Given the description of an element on the screen output the (x, y) to click on. 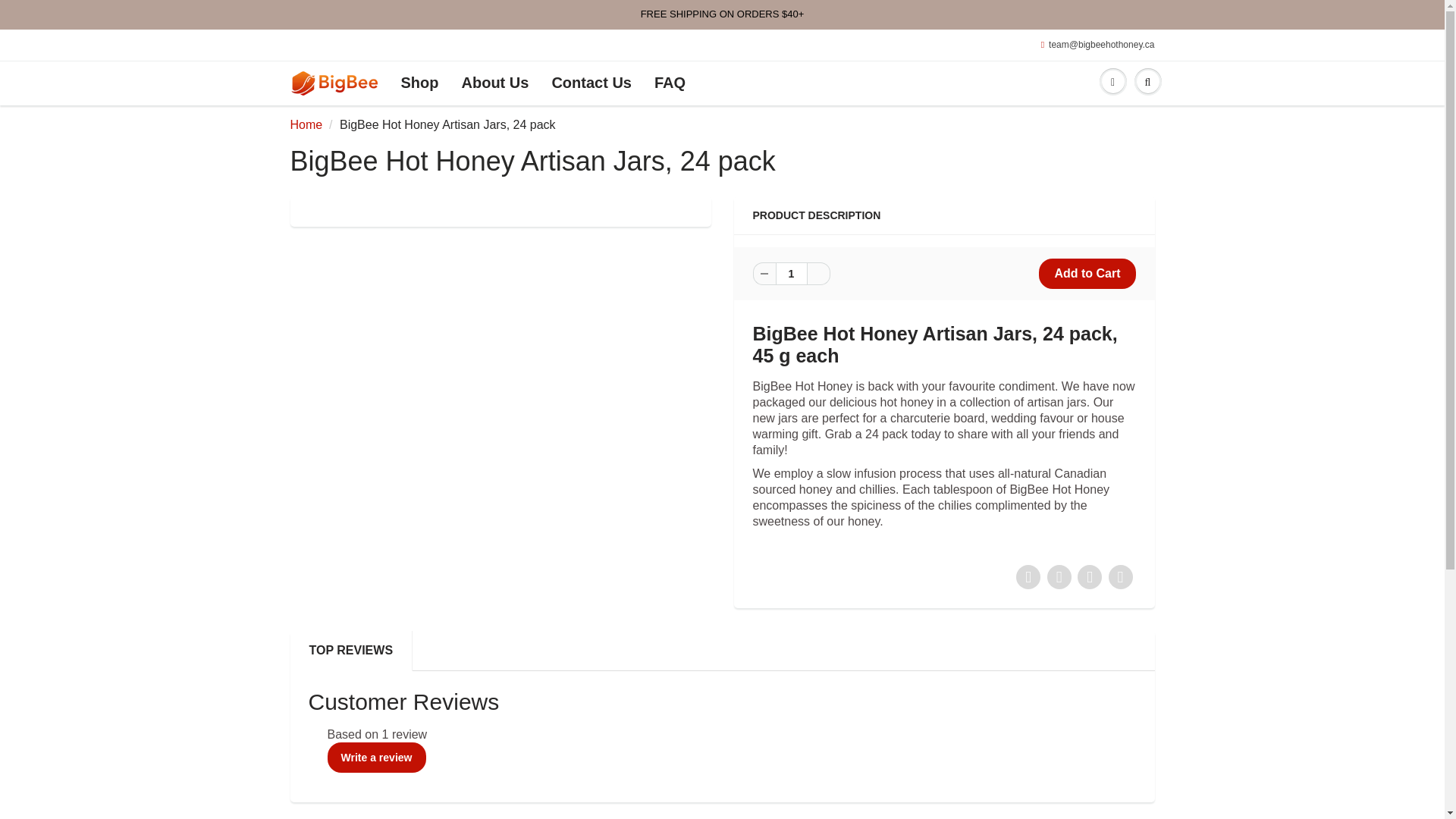
FAQ Element type: text (669, 82)
Write a review Element type: text (376, 757)
Add to Cart Element type: text (1086, 273)
Shop Element type: text (419, 82)
About Us Element type: text (495, 82)
Home Element type: text (305, 124)
TOP REVIEWS Element type: text (350, 650)
Contact Us Element type: text (591, 82)
team@bigbeehothoney.ca Element type: text (1097, 44)
